Given the description of an element on the screen output the (x, y) to click on. 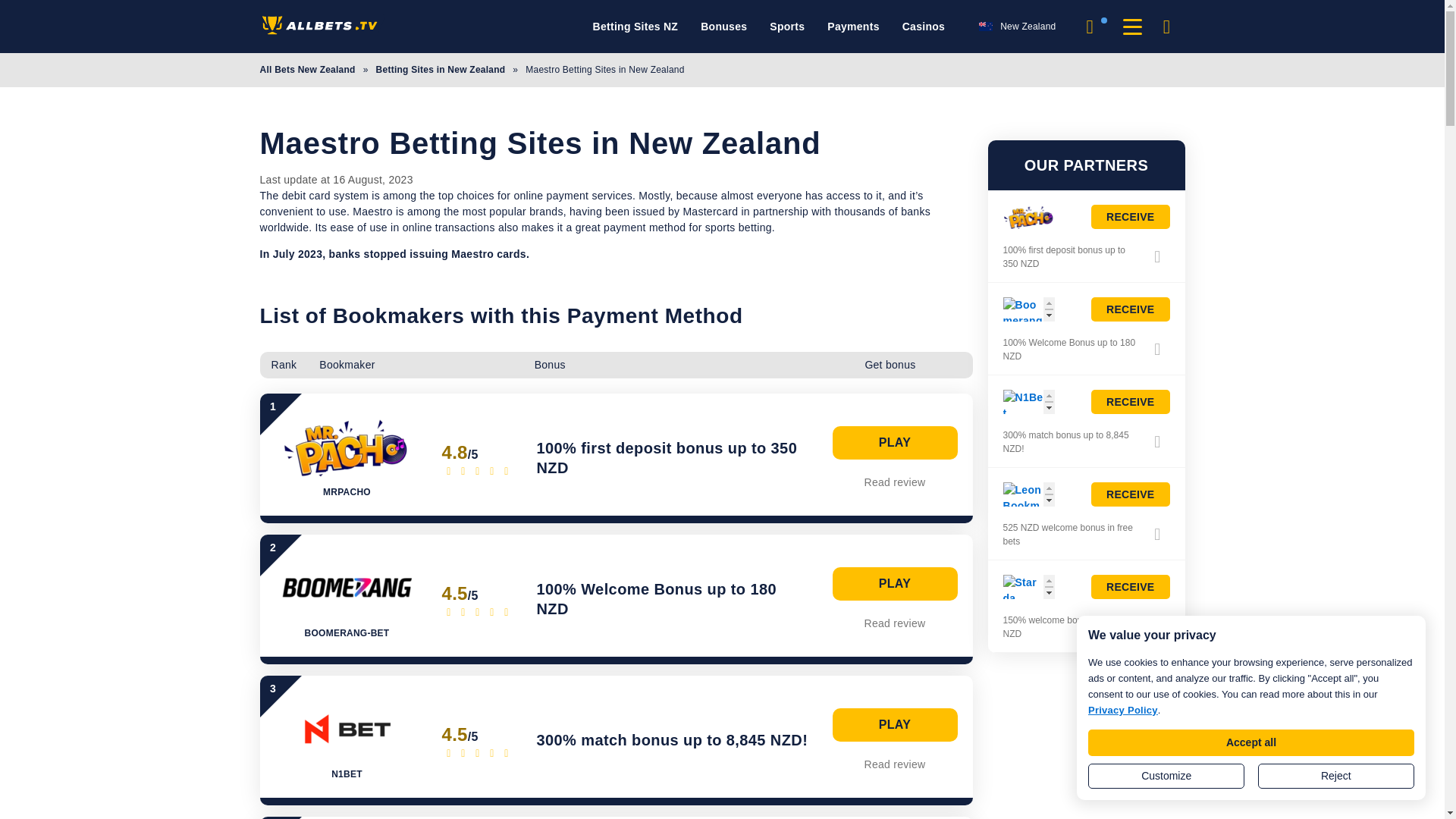
Betting Sites NZ (635, 26)
Casinos (923, 26)
Payments (852, 26)
Bonuses (723, 26)
Sports (786, 26)
